Given the description of an element on the screen output the (x, y) to click on. 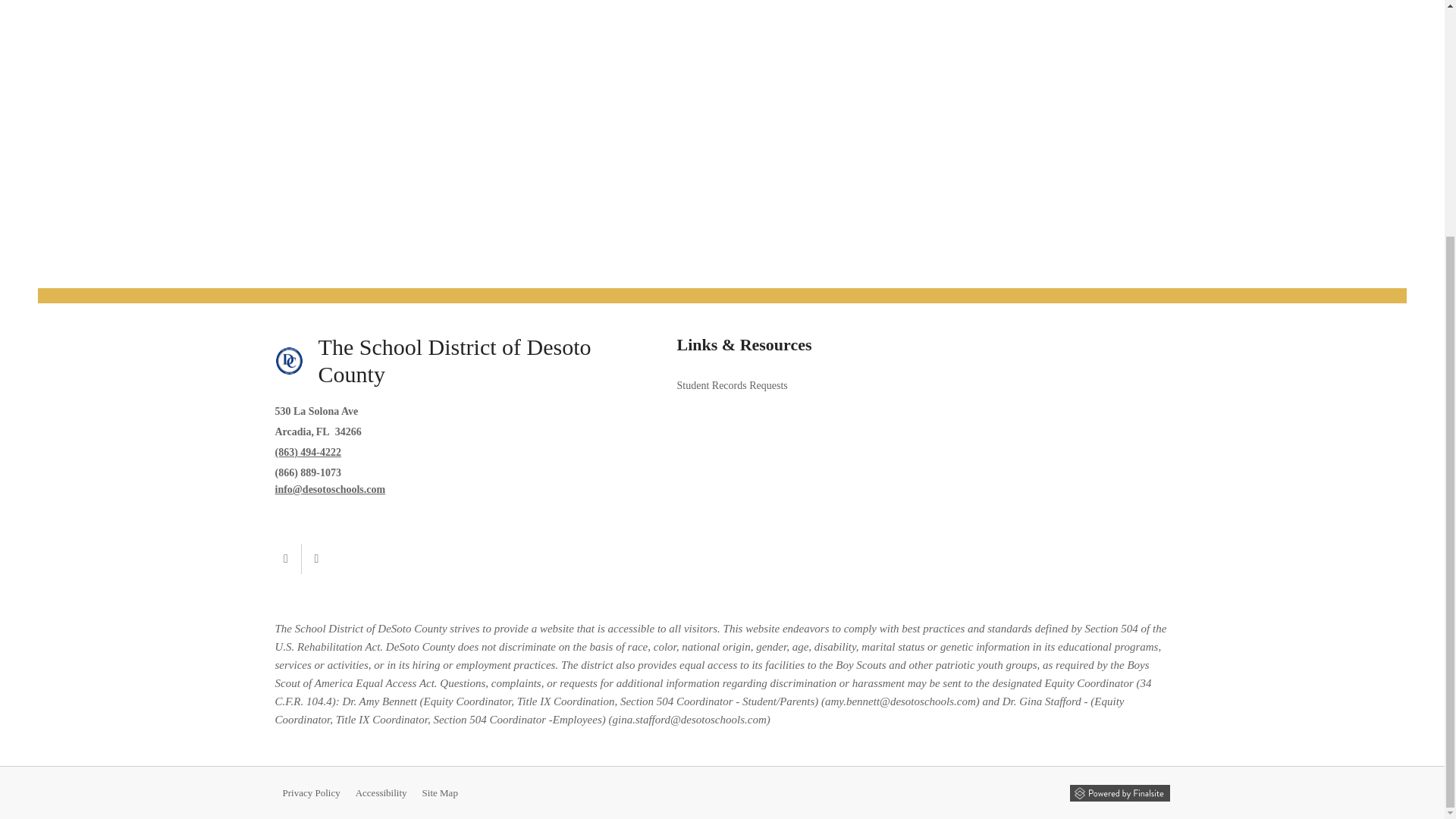
Powered by Finalsite opens in a new window (1118, 791)
Email (330, 489)
